Given the description of an element on the screen output the (x, y) to click on. 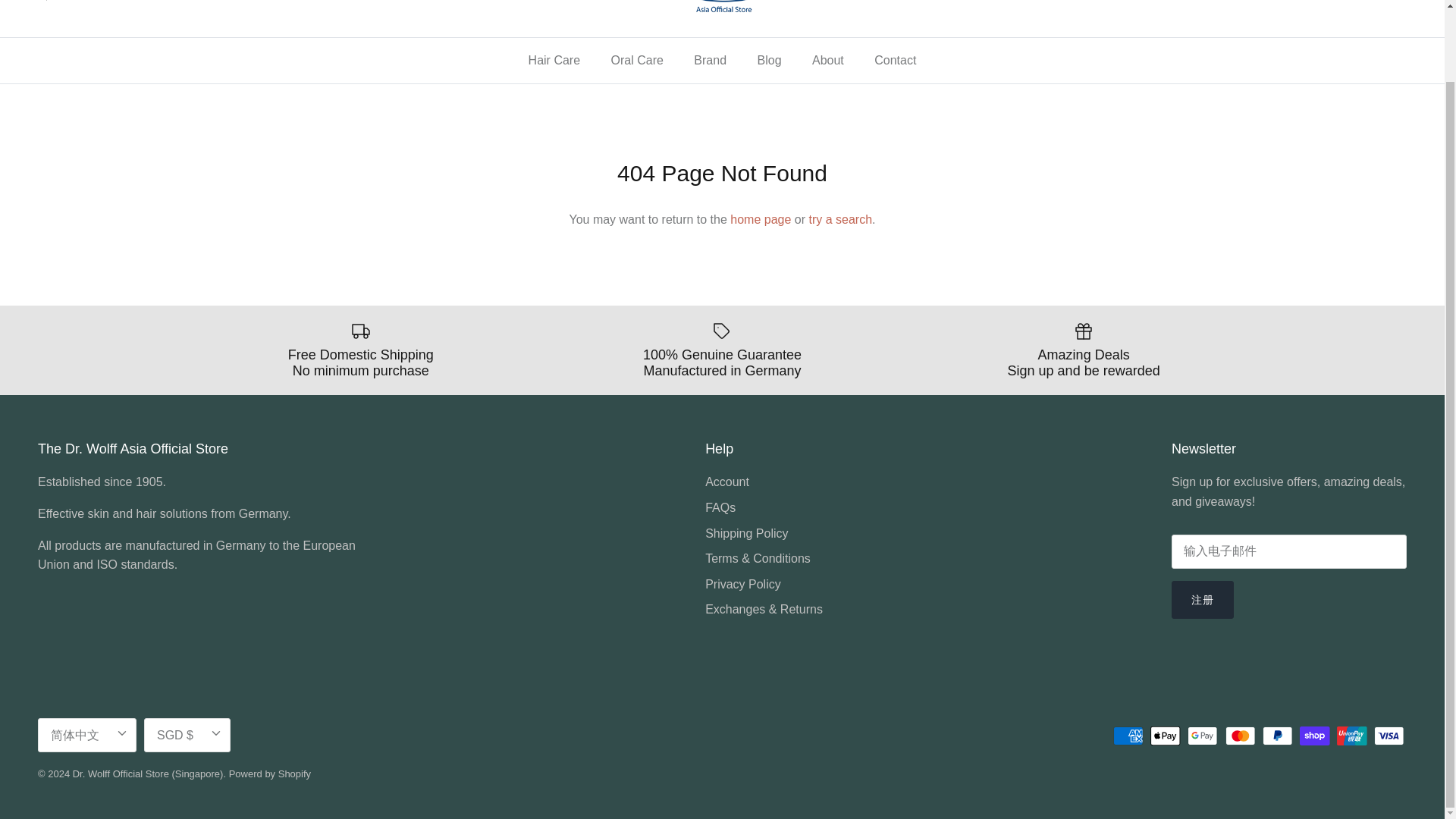
PayPal (1277, 735)
Apple Pay (1165, 735)
Union Pay (1351, 735)
American Express (1127, 735)
Google Pay (1202, 735)
Shop Pay (1314, 735)
Hair Care (554, 60)
Label (721, 331)
Mastercard (1240, 735)
Down (215, 733)
Visa (1388, 735)
Down (122, 733)
